Given the description of an element on the screen output the (x, y) to click on. 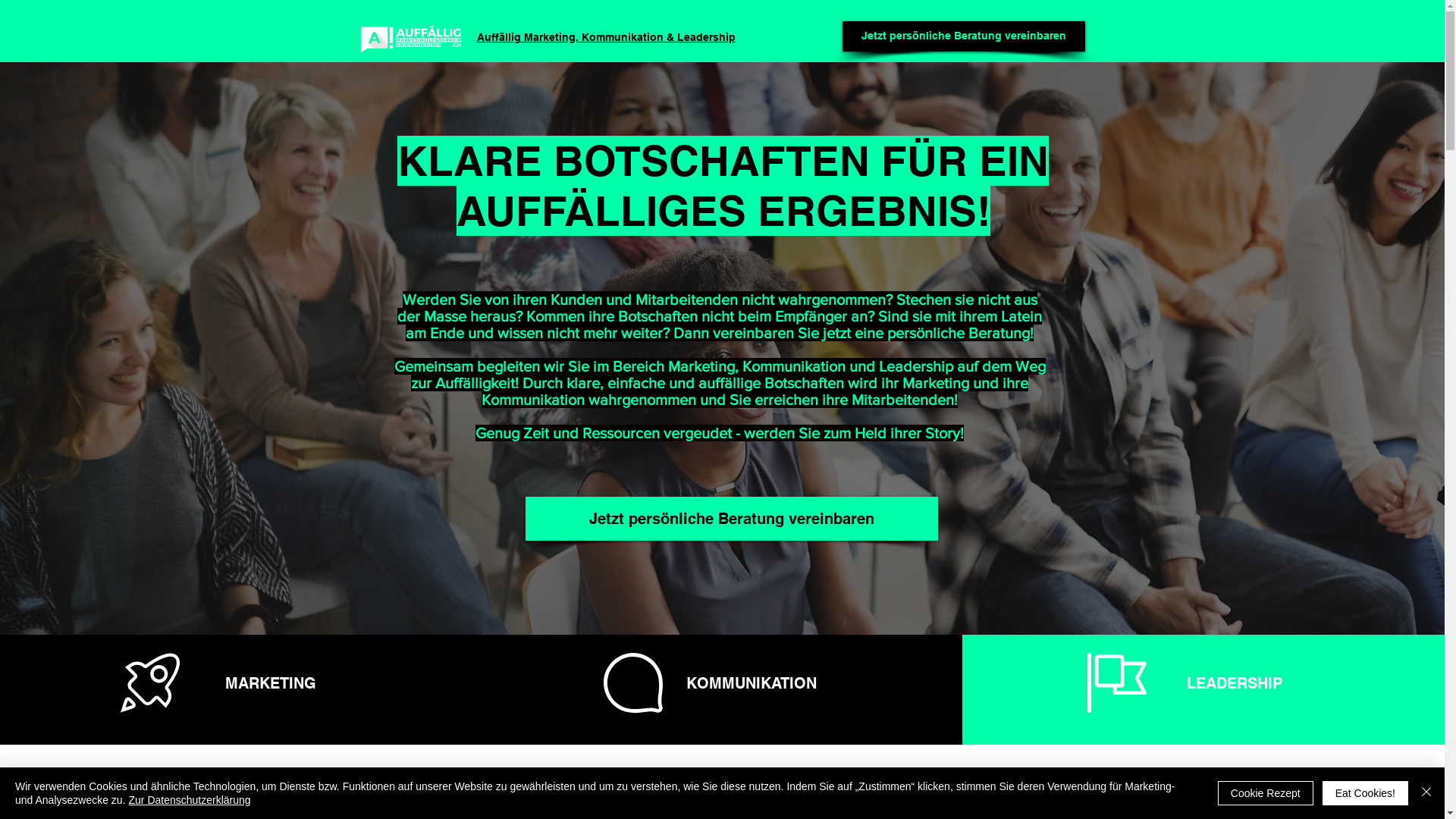
Eat Cookies! Element type: text (1365, 793)
Cookie Rezept Element type: text (1265, 793)
